Given the description of an element on the screen output the (x, y) to click on. 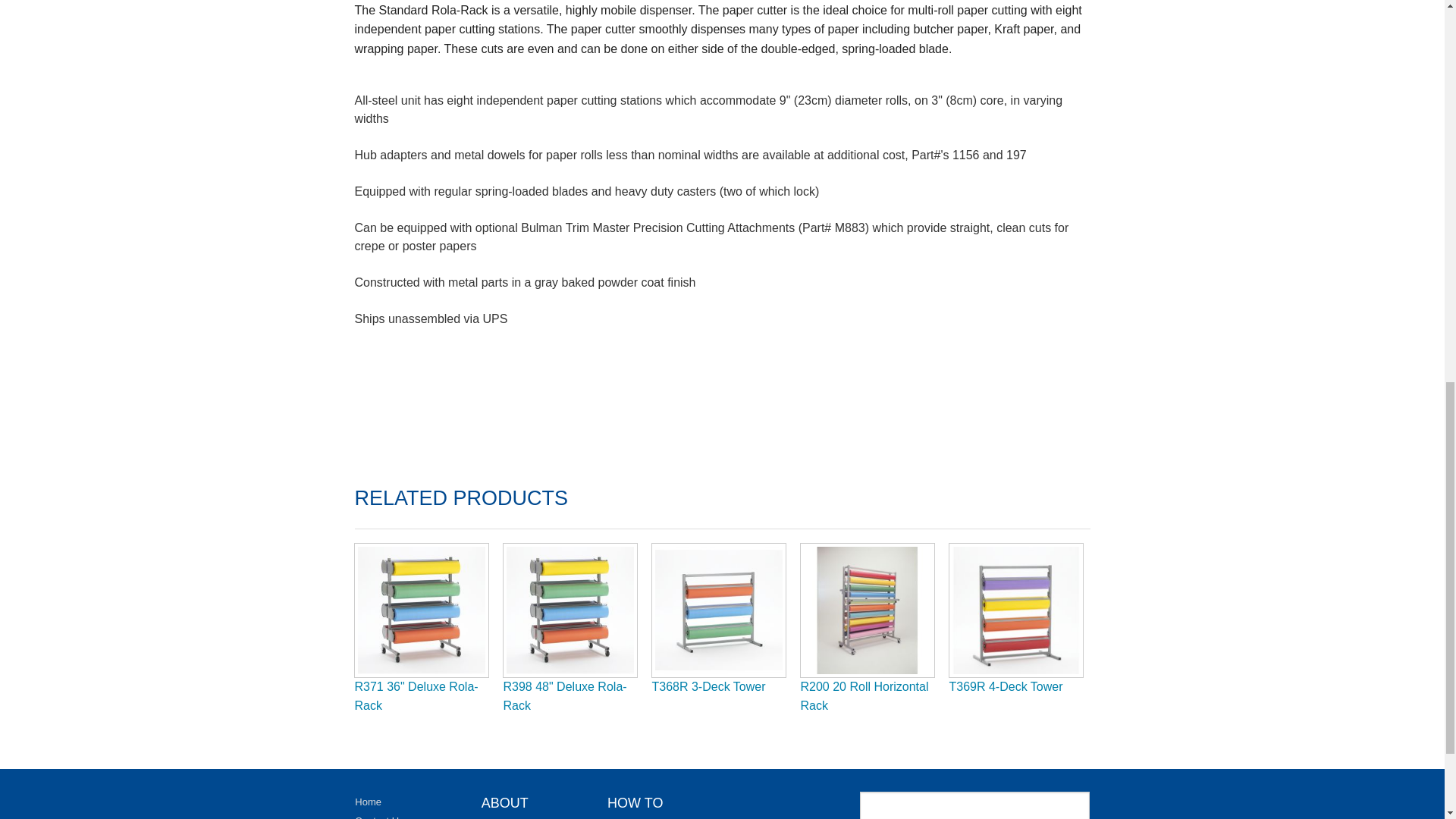
T368R 3-Deck Tower (708, 686)
R371 36" Deluxe Rola-Rack (417, 696)
Contact Us (379, 816)
T369R 4-Deck Tower (1005, 686)
R200 20 Roll Horizontal Rack (864, 696)
Home (368, 801)
Professional Affiliations (531, 818)
Become A Distributor (652, 818)
R398 48" Deluxe Rola-Rack (565, 696)
